Given the description of an element on the screen output the (x, y) to click on. 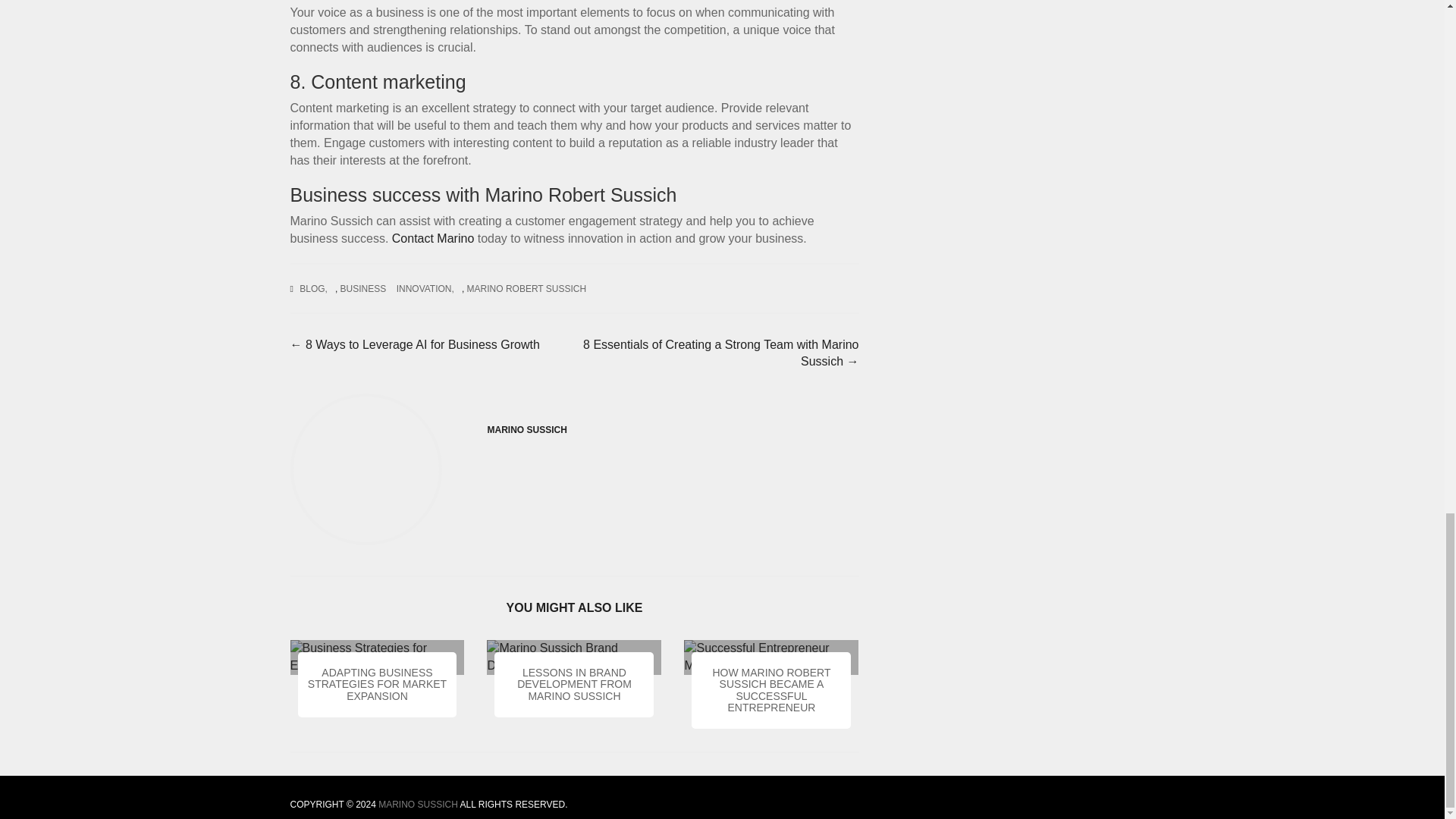
MARINO ROBERT SUSSICH (530, 294)
MARINO SUSSICH (418, 804)
BUSINESS (367, 296)
LESSONS IN BRAND DEVELOPMENT FROM MARINO SUSSICH (573, 686)
HOW MARINO ROBERT SUSSICH BECAME A SUCCESSFUL ENTREPRENEUR (770, 692)
BLOG (316, 297)
Contact Marino (432, 522)
Marino Sussich (418, 804)
ADAPTING BUSINESS STRATEGIES FOR MARKET EXPANSION (376, 687)
INNOVATION (428, 295)
